Given the description of an element on the screen output the (x, y) to click on. 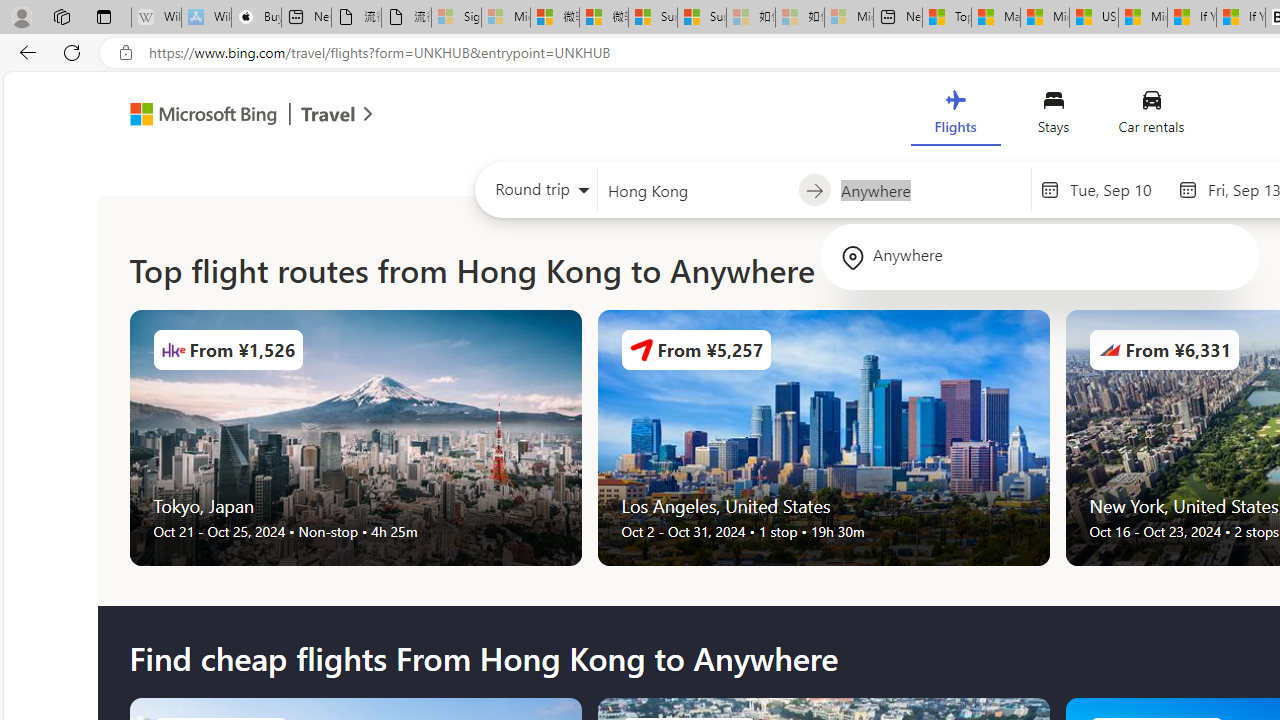
Airlines Logo (1109, 349)
Stays (1053, 116)
Car rentals (1150, 116)
